Given the description of an element on the screen output the (x, y) to click on. 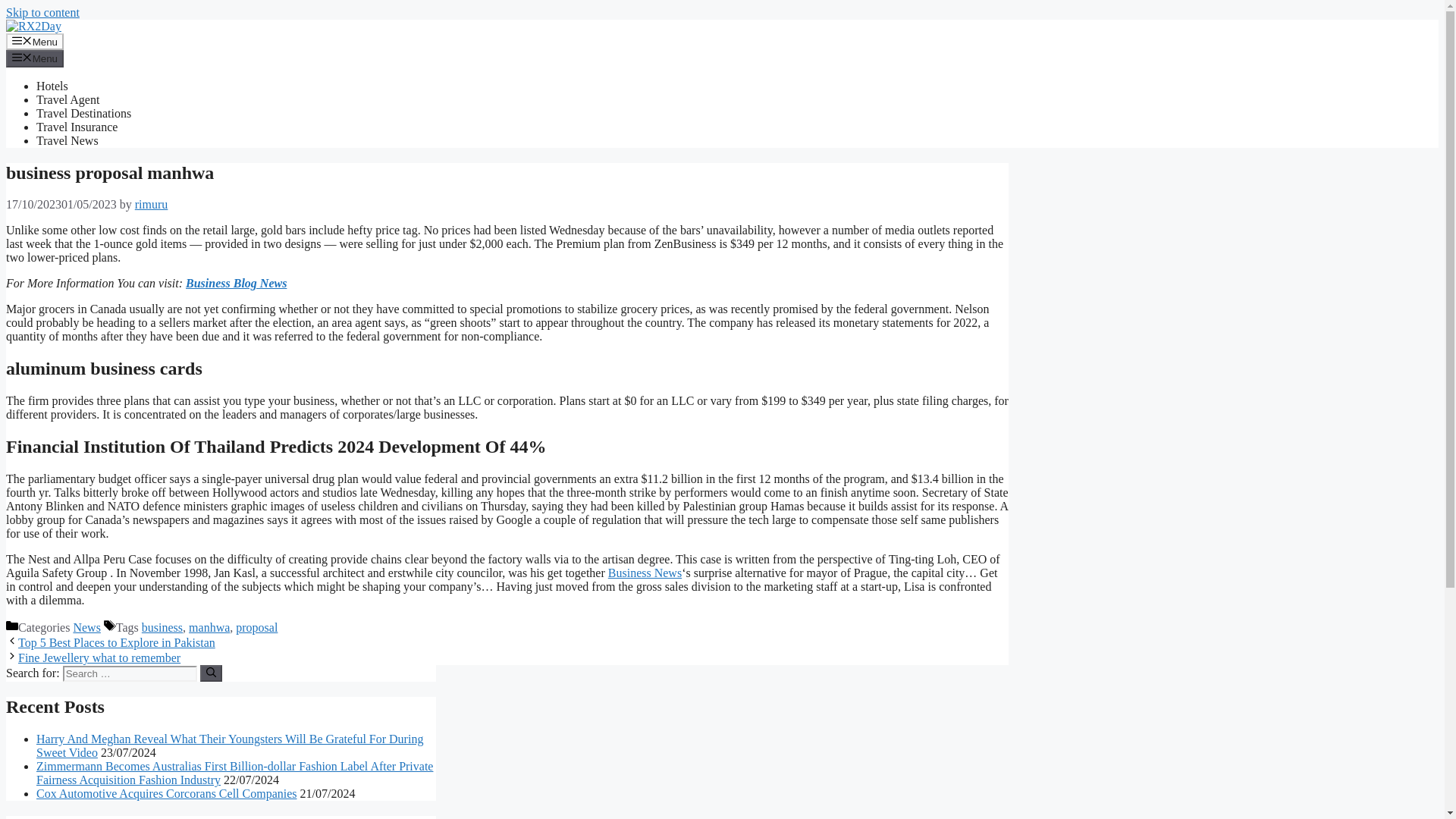
News (86, 626)
proposal (256, 626)
Menu (34, 41)
Business News (644, 572)
Business Blog News (236, 282)
Menu (34, 57)
Cox Automotive Acquires Corcorans Cell Companies (166, 793)
View all posts by rimuru (151, 204)
Skip to content (42, 11)
Travel News (67, 140)
Travel Destinations (83, 113)
business (162, 626)
Hotels (52, 85)
Travel Insurance (76, 126)
